Given the description of an element on the screen output the (x, y) to click on. 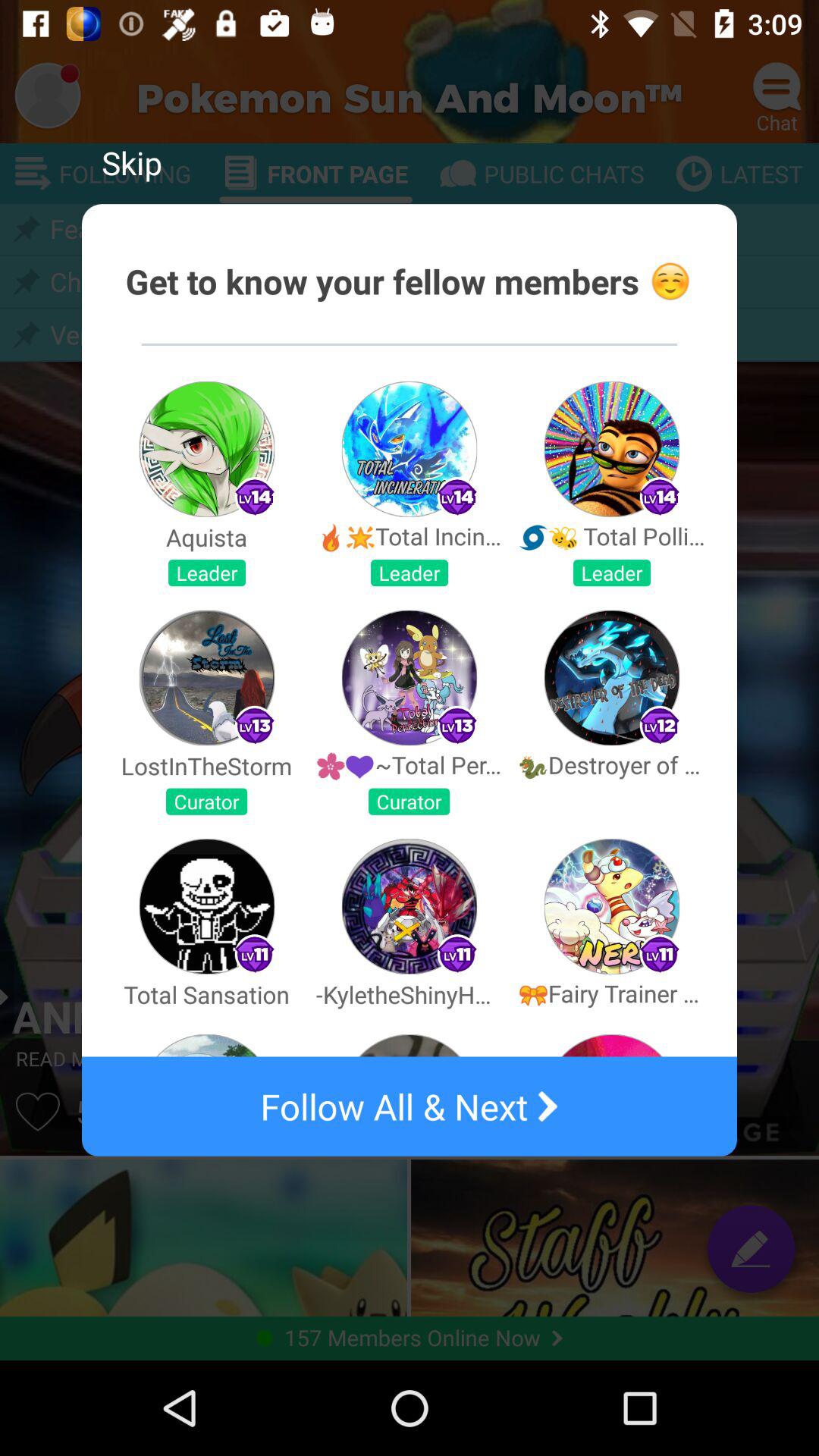
scroll to the skip (131, 162)
